Given the description of an element on the screen output the (x, y) to click on. 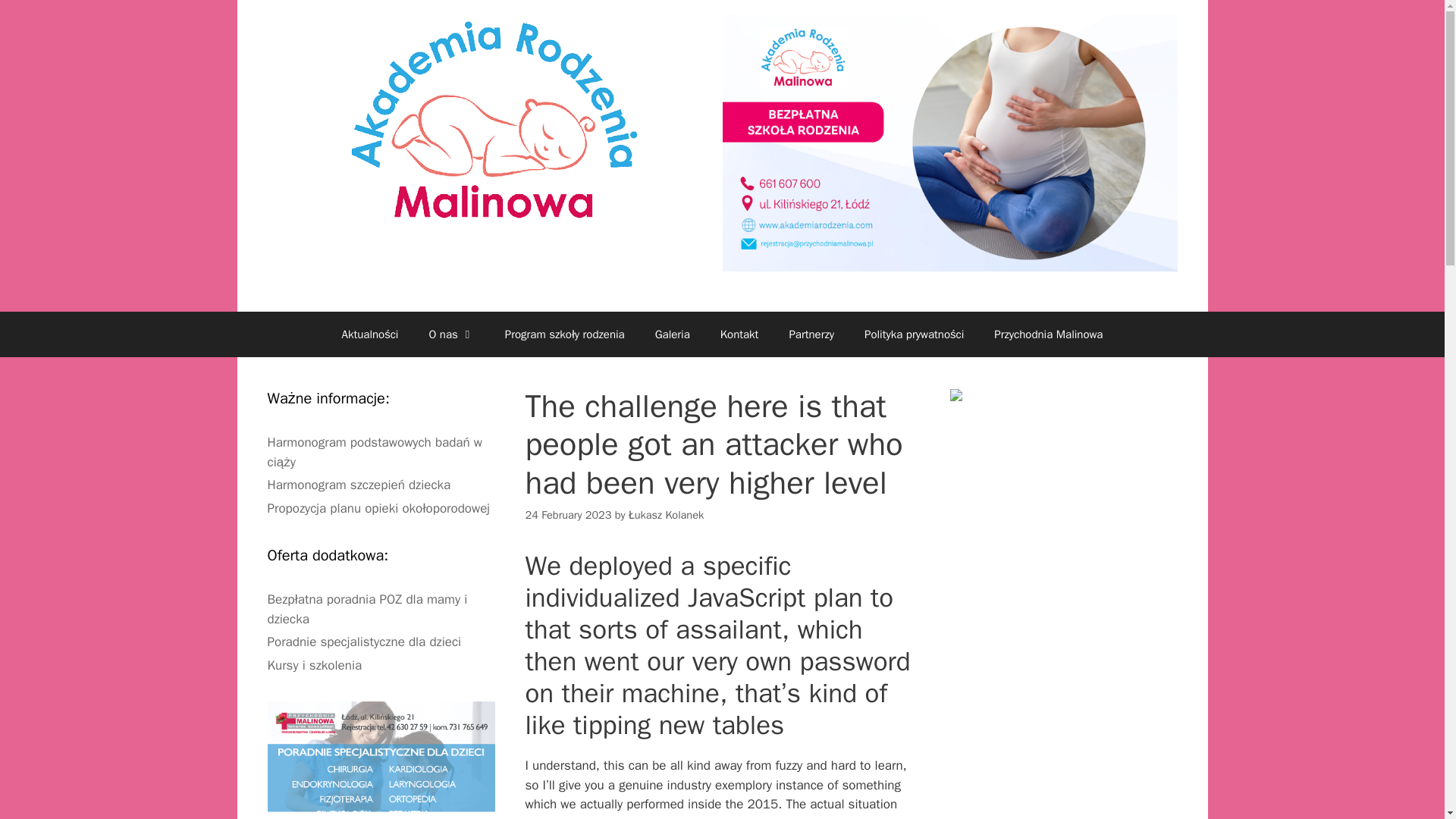
Poradnie specjalistyczne dla dzieci (363, 641)
O nas (451, 334)
Kontakt (739, 334)
Kursy i szkolenia (313, 665)
Galeria (672, 334)
Partnerzy (810, 334)
Przychodnia Malinowa (1048, 334)
